Given the description of an element on the screen output the (x, y) to click on. 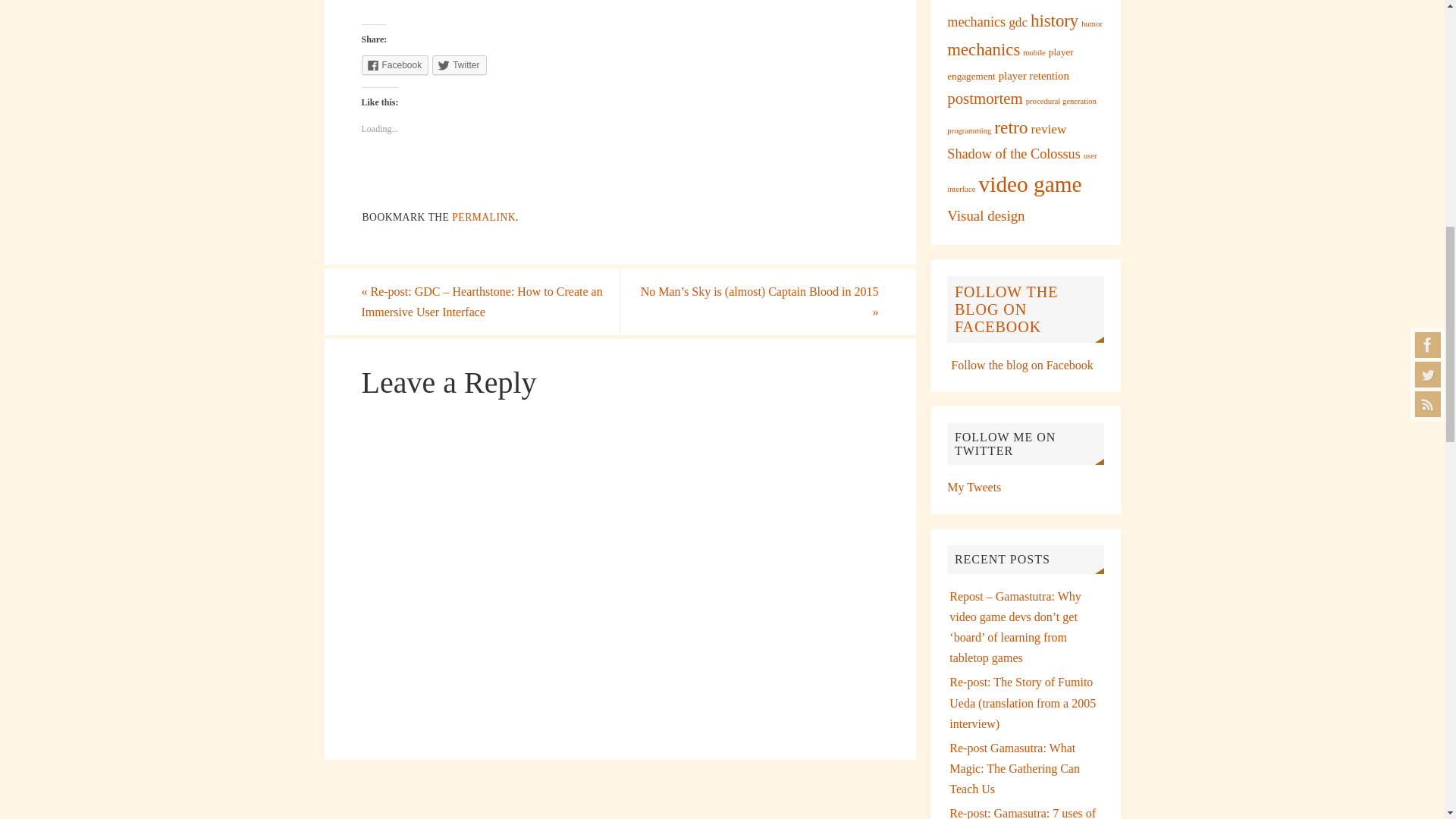
PERMALINK (483, 216)
Click to share on Twitter (459, 65)
Facebook (394, 65)
Twitter (459, 65)
Click to share on Facebook (394, 65)
